Given the description of an element on the screen output the (x, y) to click on. 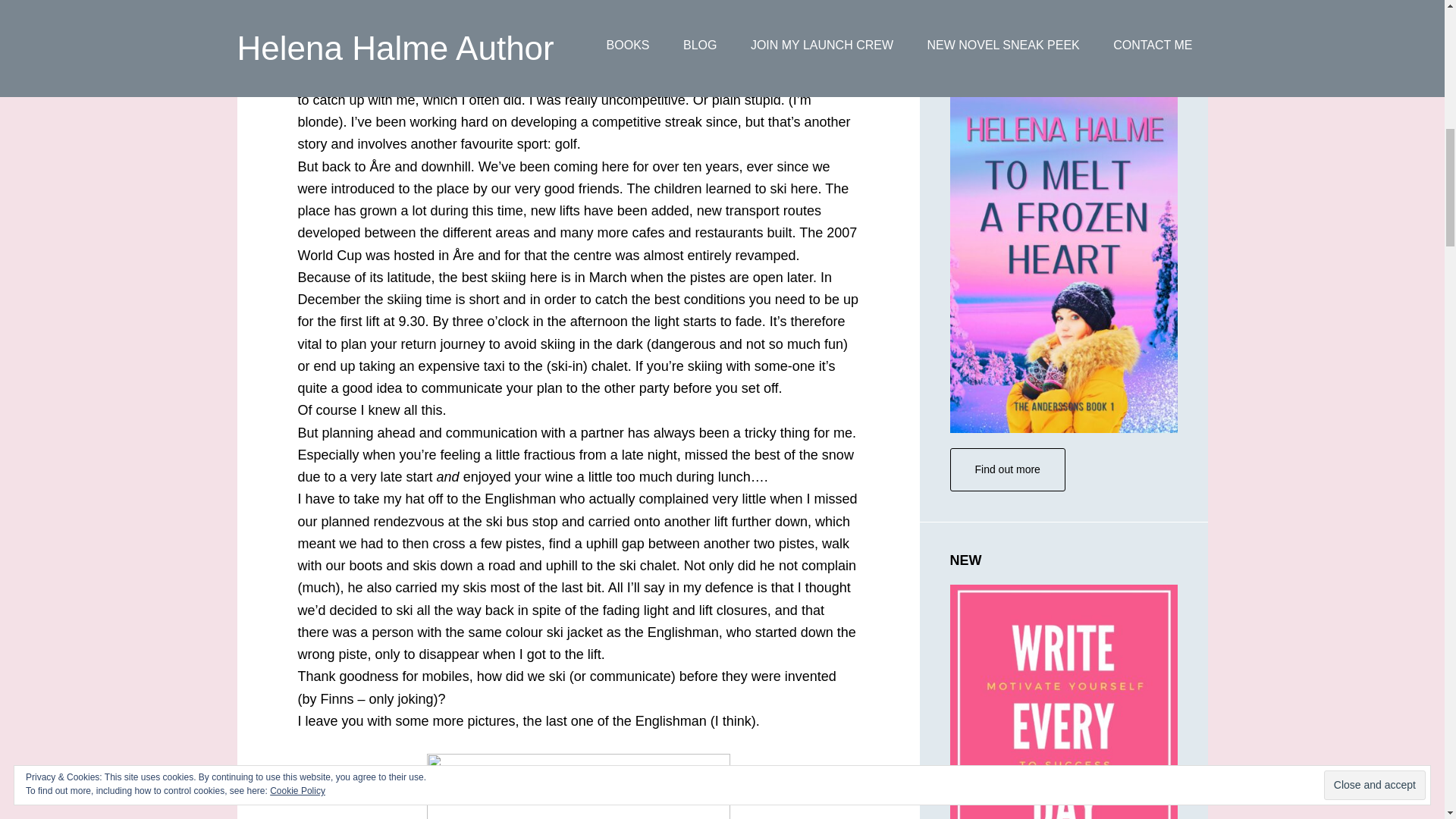
Find out more (1006, 469)
